Given the description of an element on the screen output the (x, y) to click on. 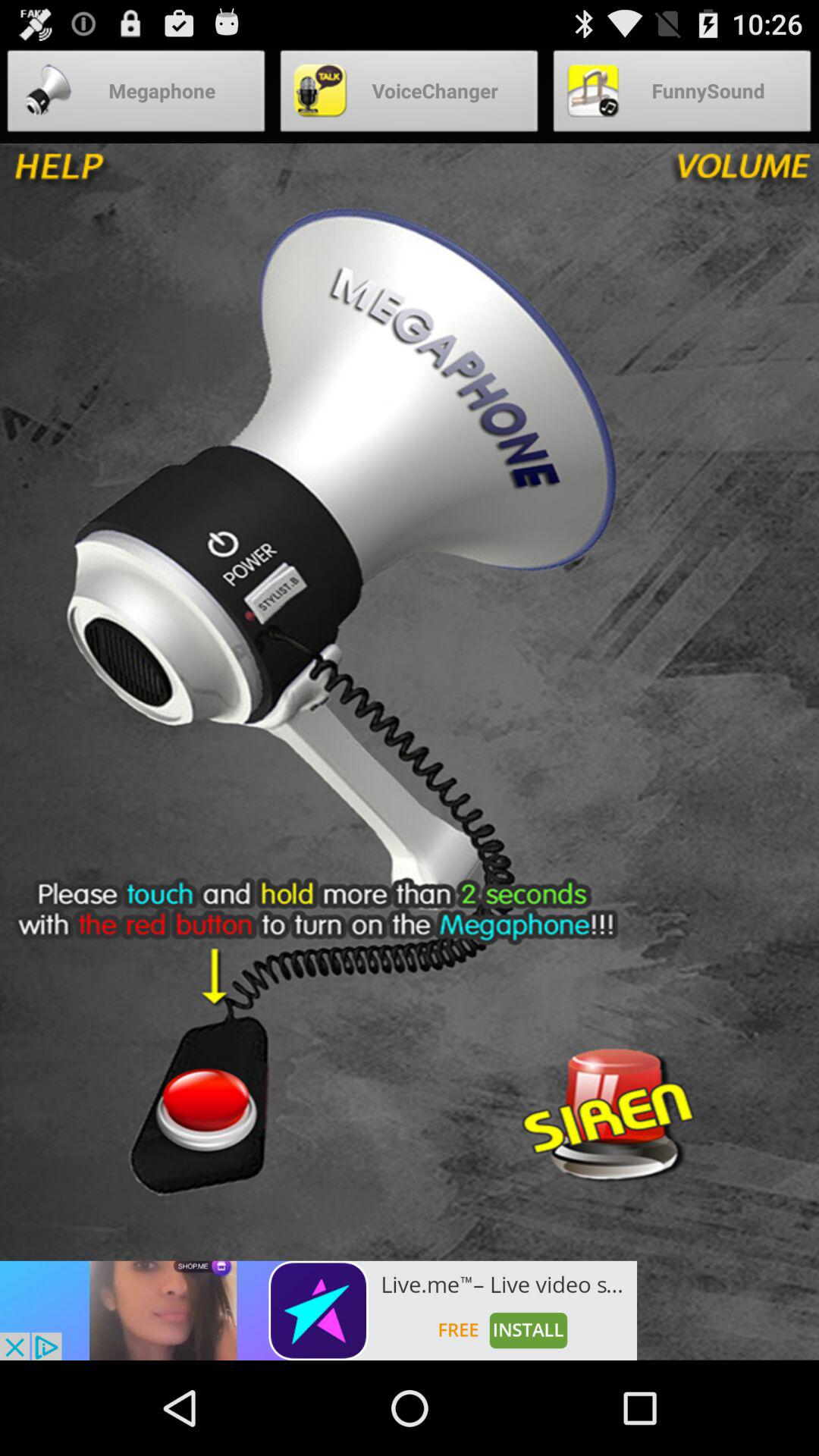
help option (112, 173)
